Given the description of an element on the screen output the (x, y) to click on. 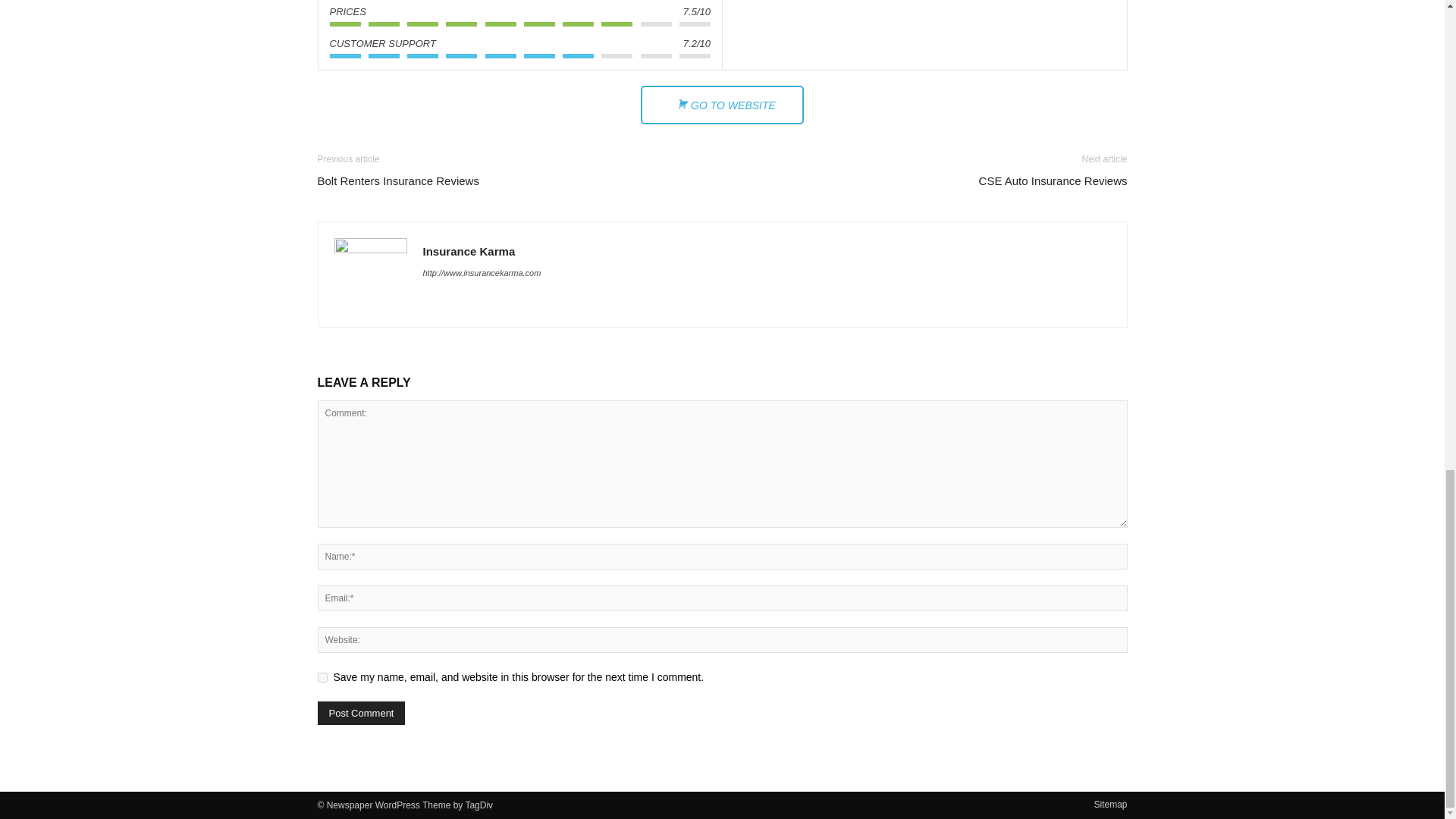
Post Comment (360, 712)
yes (321, 677)
